Given the description of an element on the screen output the (x, y) to click on. 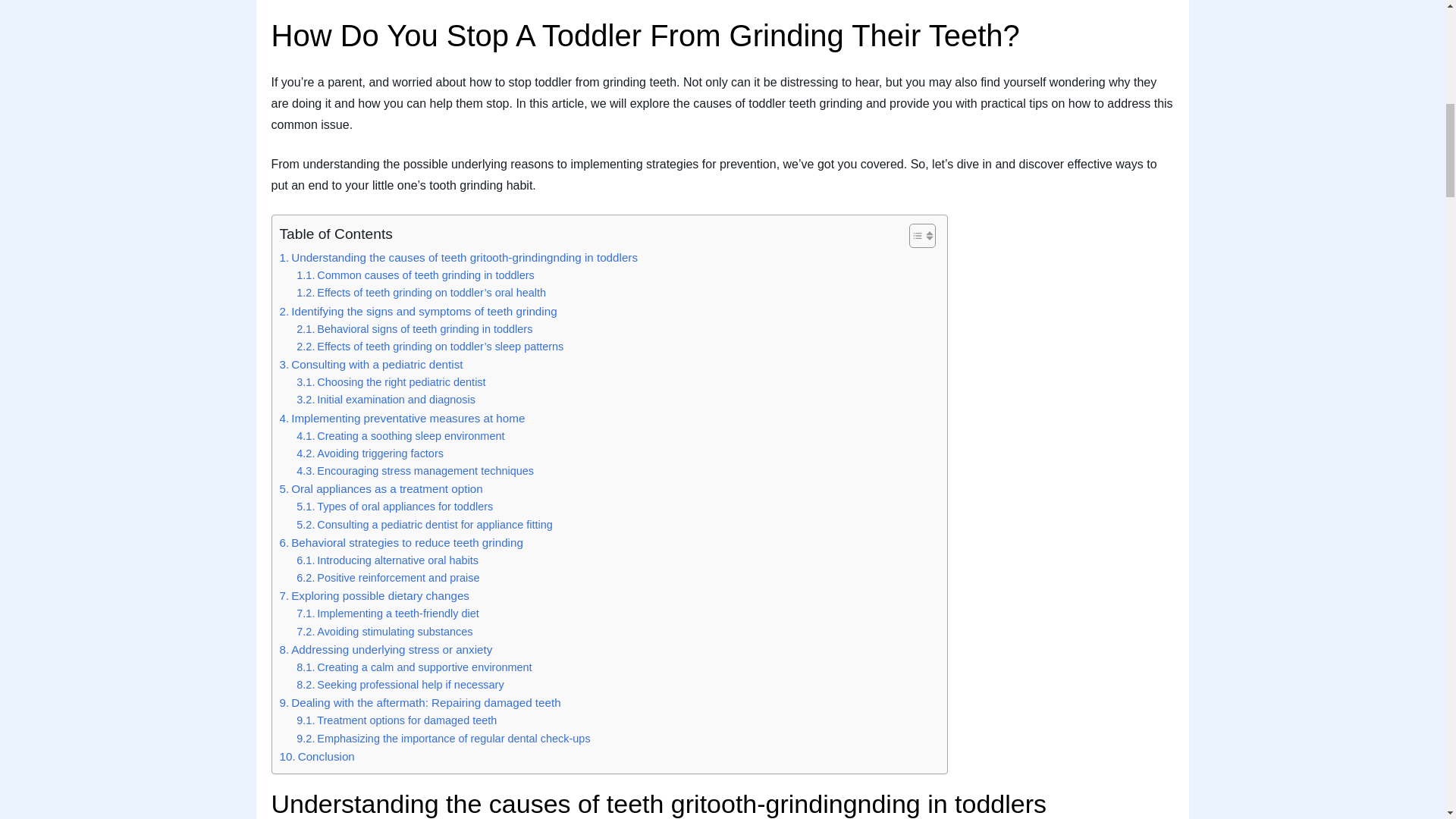
Creating a soothing sleep environment (400, 436)
Creating a calm and supportive environment (414, 667)
Avoiding triggering factors (370, 453)
Common causes of teeth grinding in toddlers (415, 275)
Types of oral appliances for toddlers (395, 506)
Oral appliances as a treatment option (380, 488)
Choosing the right pediatric dentist (390, 382)
Positive reinforcement and praise (388, 578)
